Given the description of an element on the screen output the (x, y) to click on. 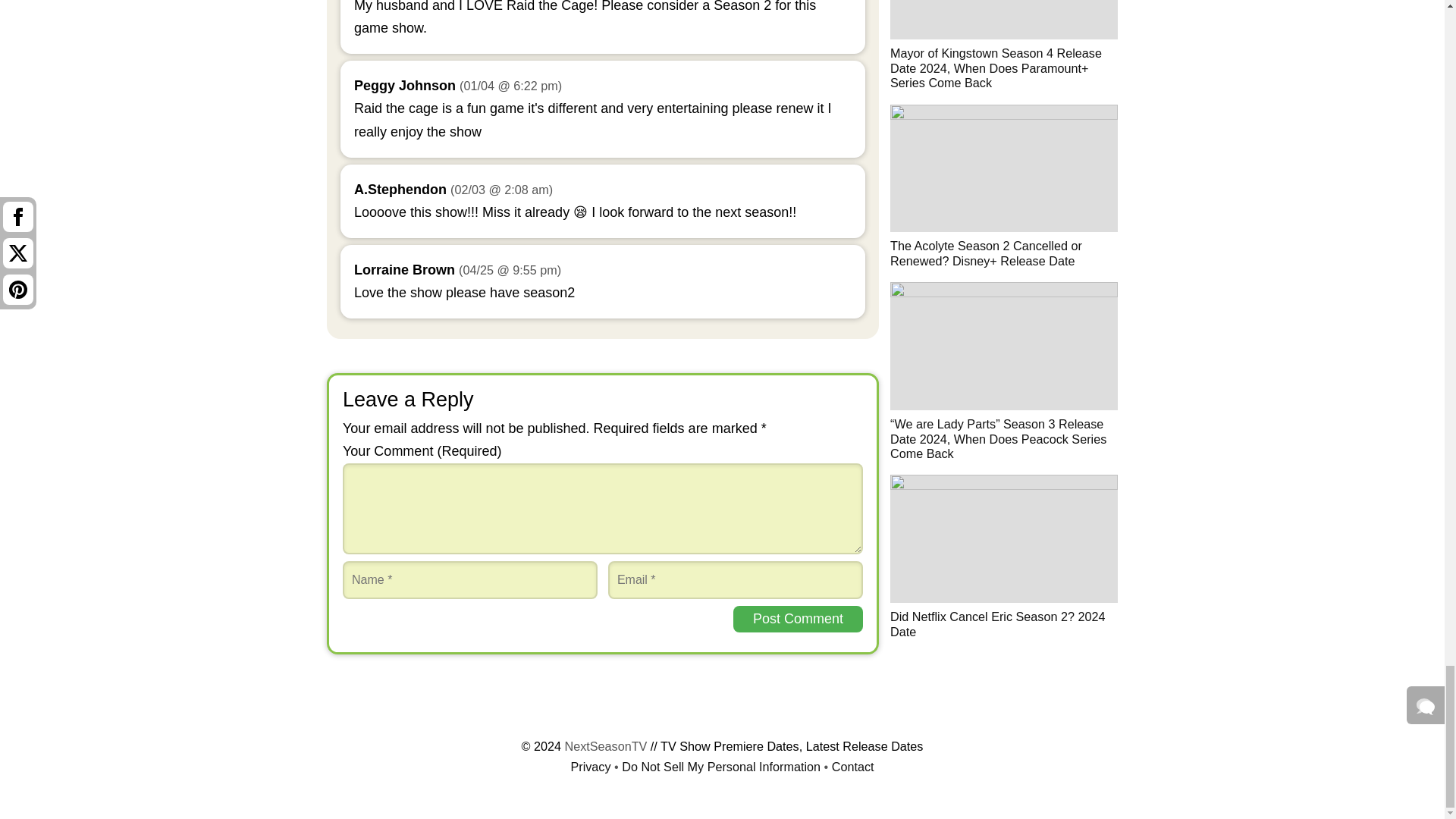
Post Comment (798, 619)
